Given the description of an element on the screen output the (x, y) to click on. 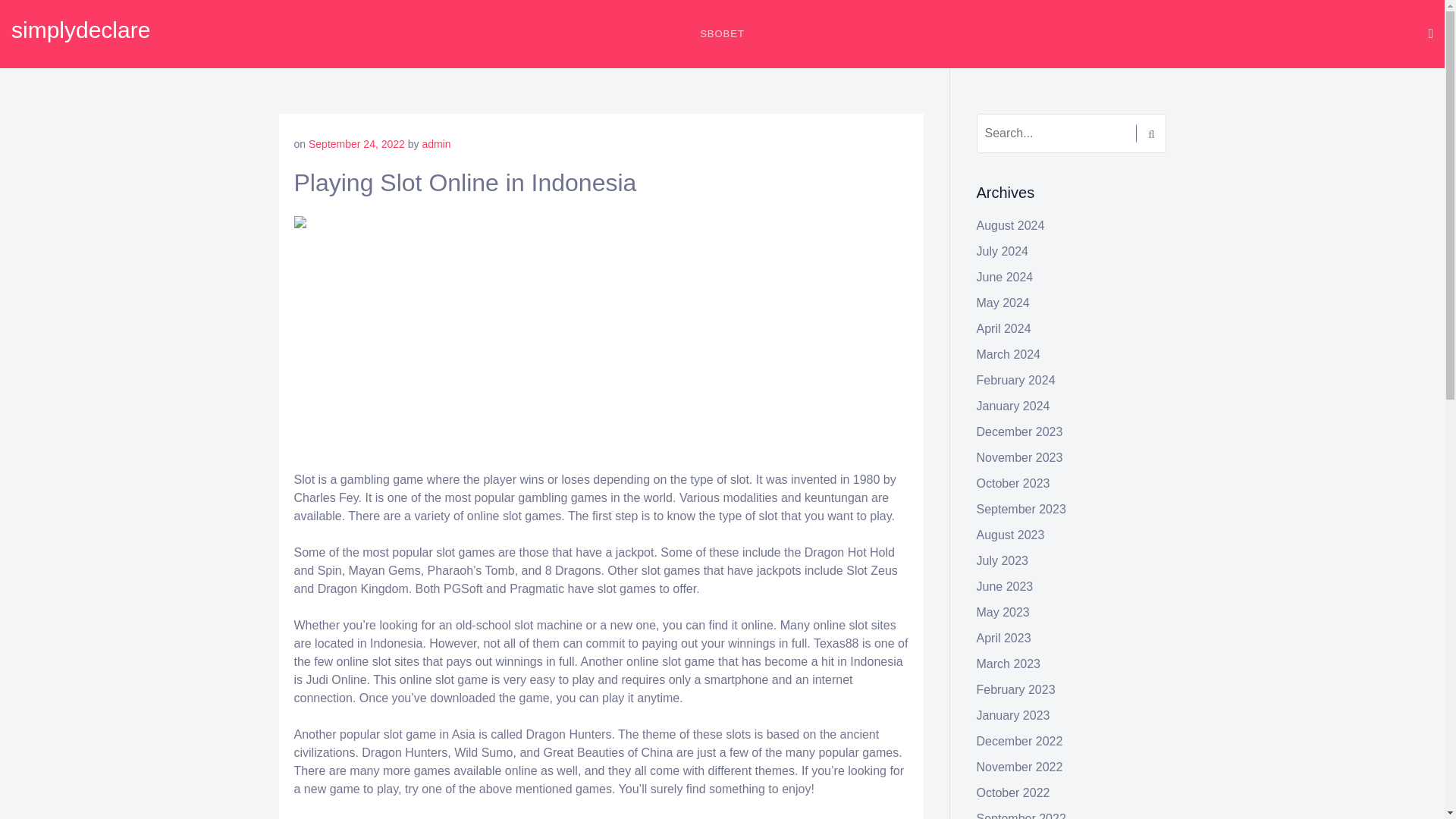
July 2023 (1002, 560)
April 2024 (1003, 328)
July 2024 (1002, 250)
April 2023 (1003, 637)
November 2023 (1019, 457)
December 2022 (1019, 740)
May 2023 (1002, 612)
May 2024 (1002, 302)
February 2023 (1015, 689)
January 2024 (1012, 405)
